Given the description of an element on the screen output the (x, y) to click on. 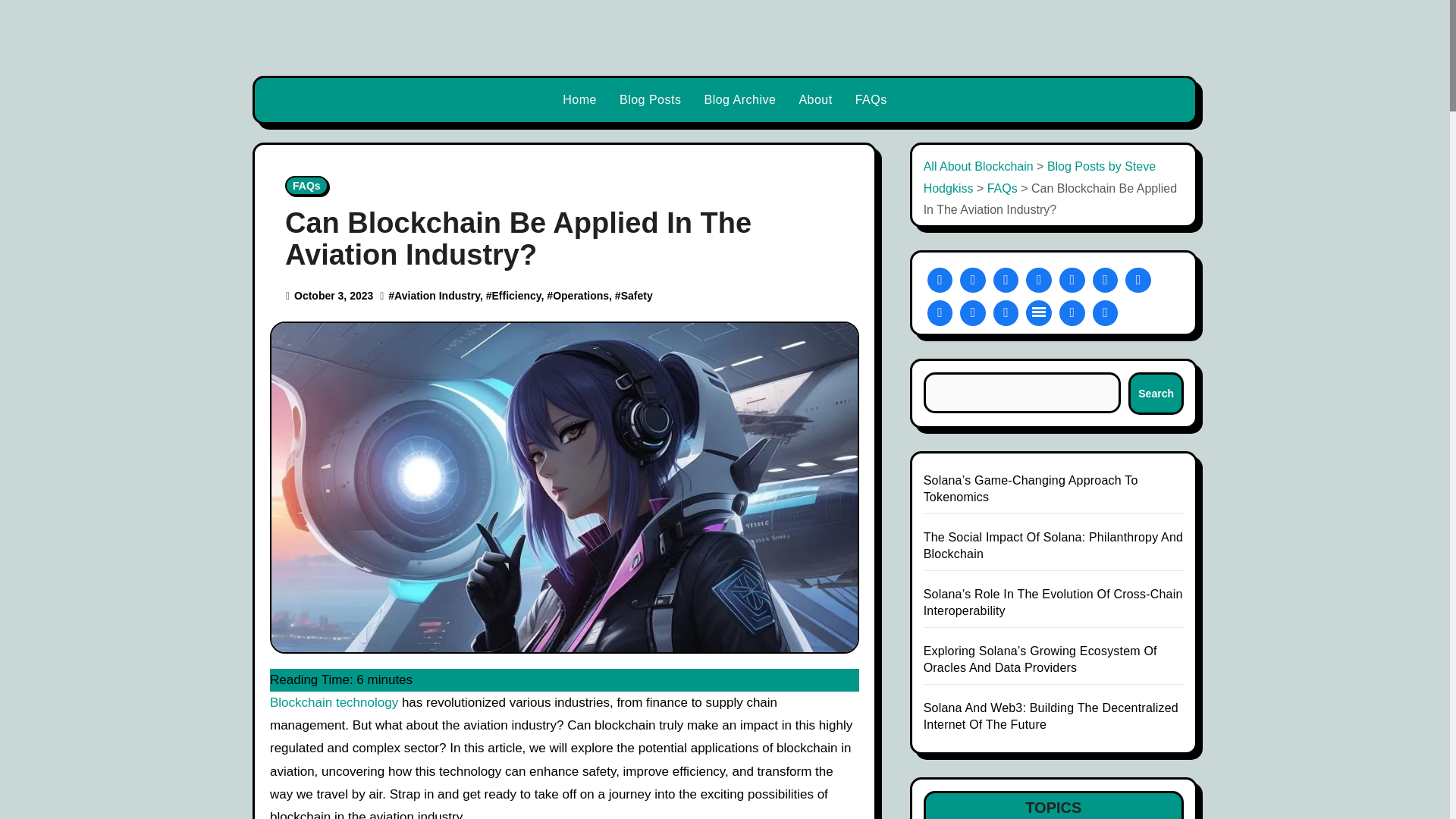
About (815, 99)
Operations (580, 295)
Home (579, 99)
Efficiency (516, 295)
Blog Archive (740, 99)
October 3, 2023 (333, 295)
Blockchain technology (333, 702)
Can Blockchain Be Applied In The Aviation Industry? (518, 239)
Safety (636, 295)
Blog Posts (650, 99)
Aviation Industry (437, 295)
Home (579, 99)
Blog Posts (650, 99)
About (815, 99)
